Given the description of an element on the screen output the (x, y) to click on. 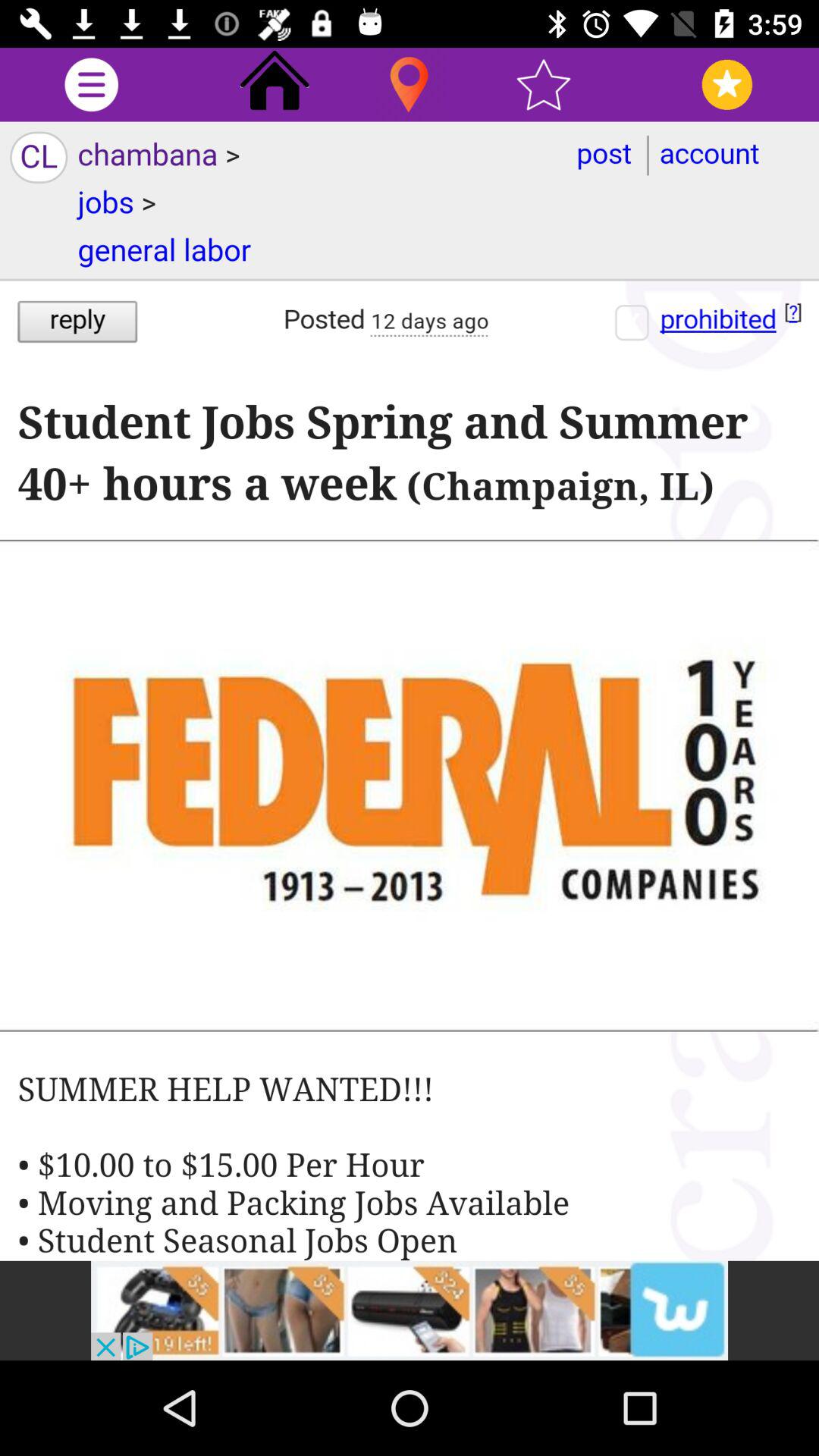
go home (274, 84)
